Given the description of an element on the screen output the (x, y) to click on. 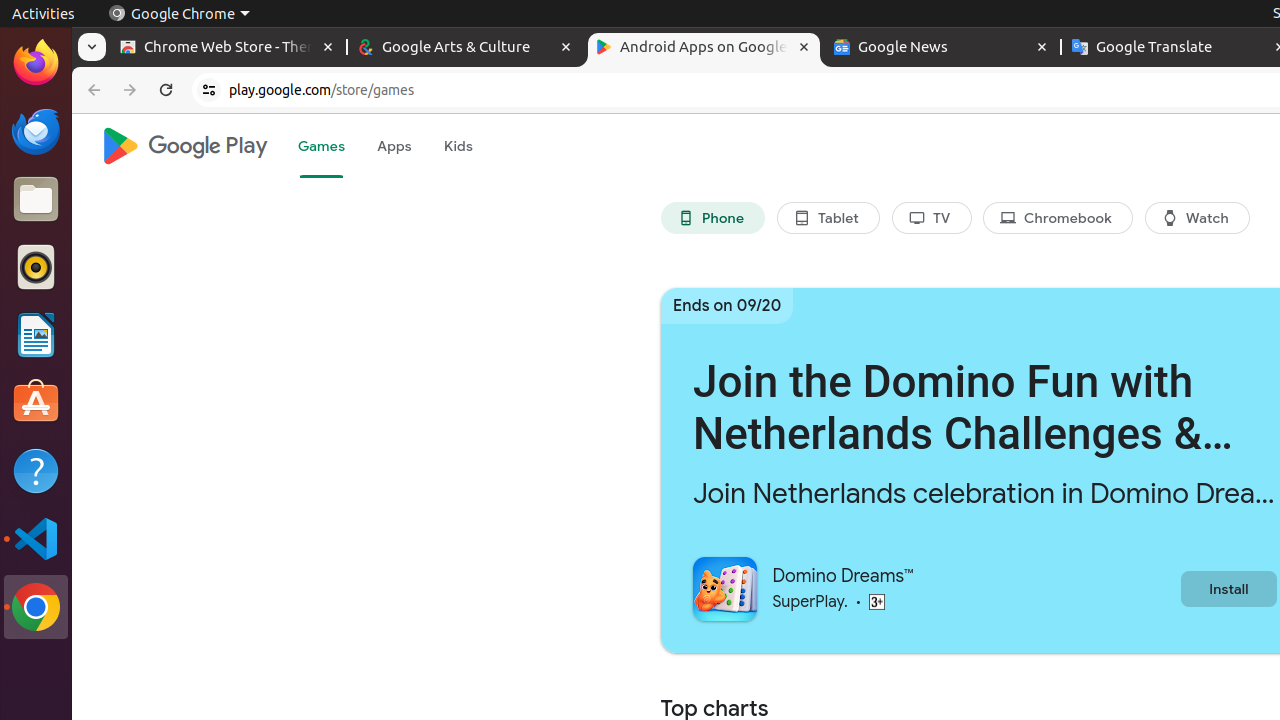
LibreOffice Writer Element type: push-button (36, 334)
Apps Element type: page-tab (394, 146)
Firefox Web Browser Element type: push-button (36, 63)
Domino Dreams™ SuperPlay. Content rating Rated for 3+ Element type: link (936, 588)
Forward Element type: push-button (130, 90)
